Given the description of an element on the screen output the (x, y) to click on. 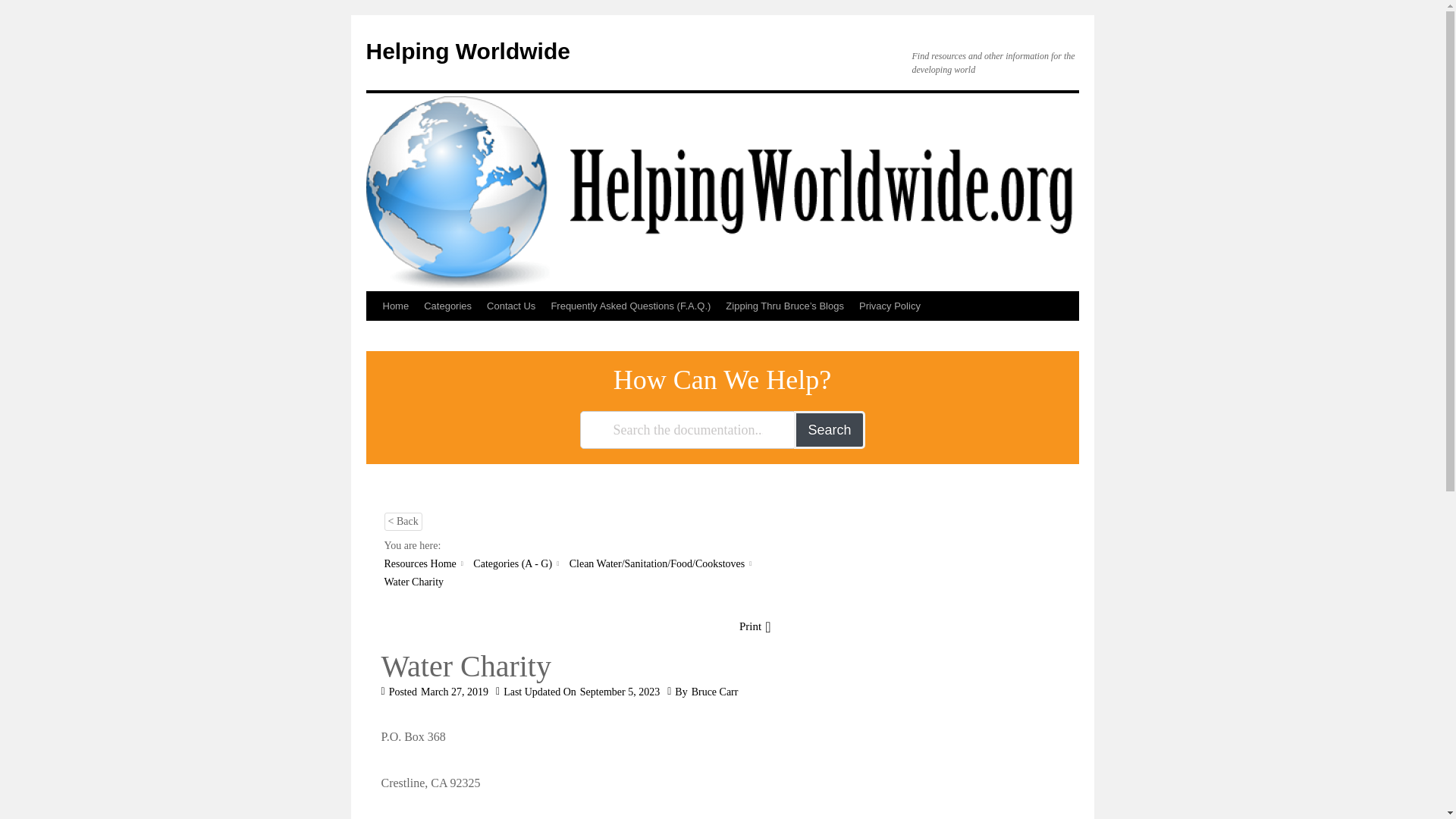
Categories (447, 306)
Resources Home (419, 563)
Home (395, 306)
Contact Us (511, 306)
Search (828, 429)
Helping Worldwide (467, 50)
Privacy Policy (889, 306)
